Given the description of an element on the screen output the (x, y) to click on. 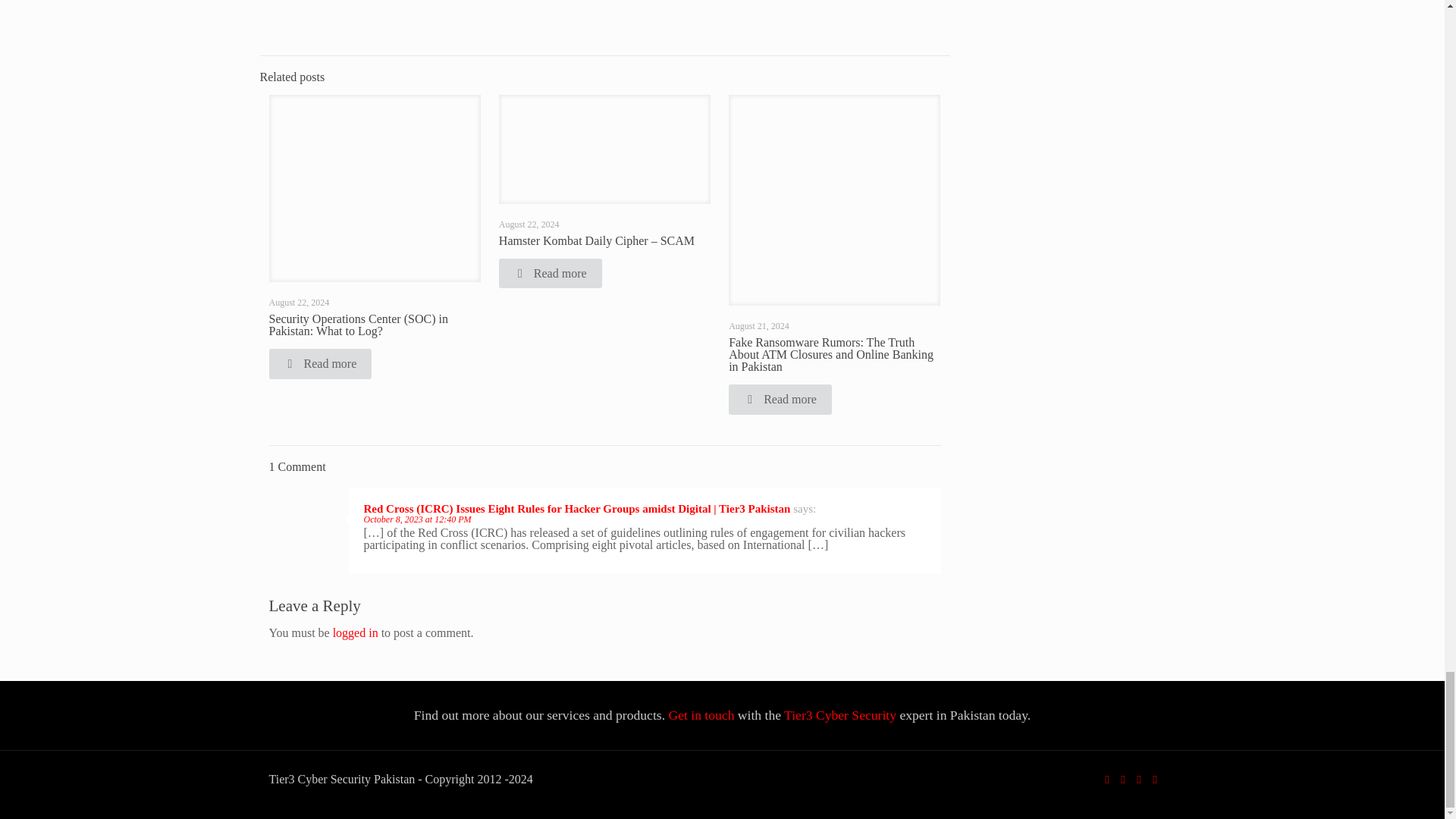
YouTube (1138, 779)
LinkedIn (1155, 779)
WhatsApp (1106, 779)
